Given the description of an element on the screen output the (x, y) to click on. 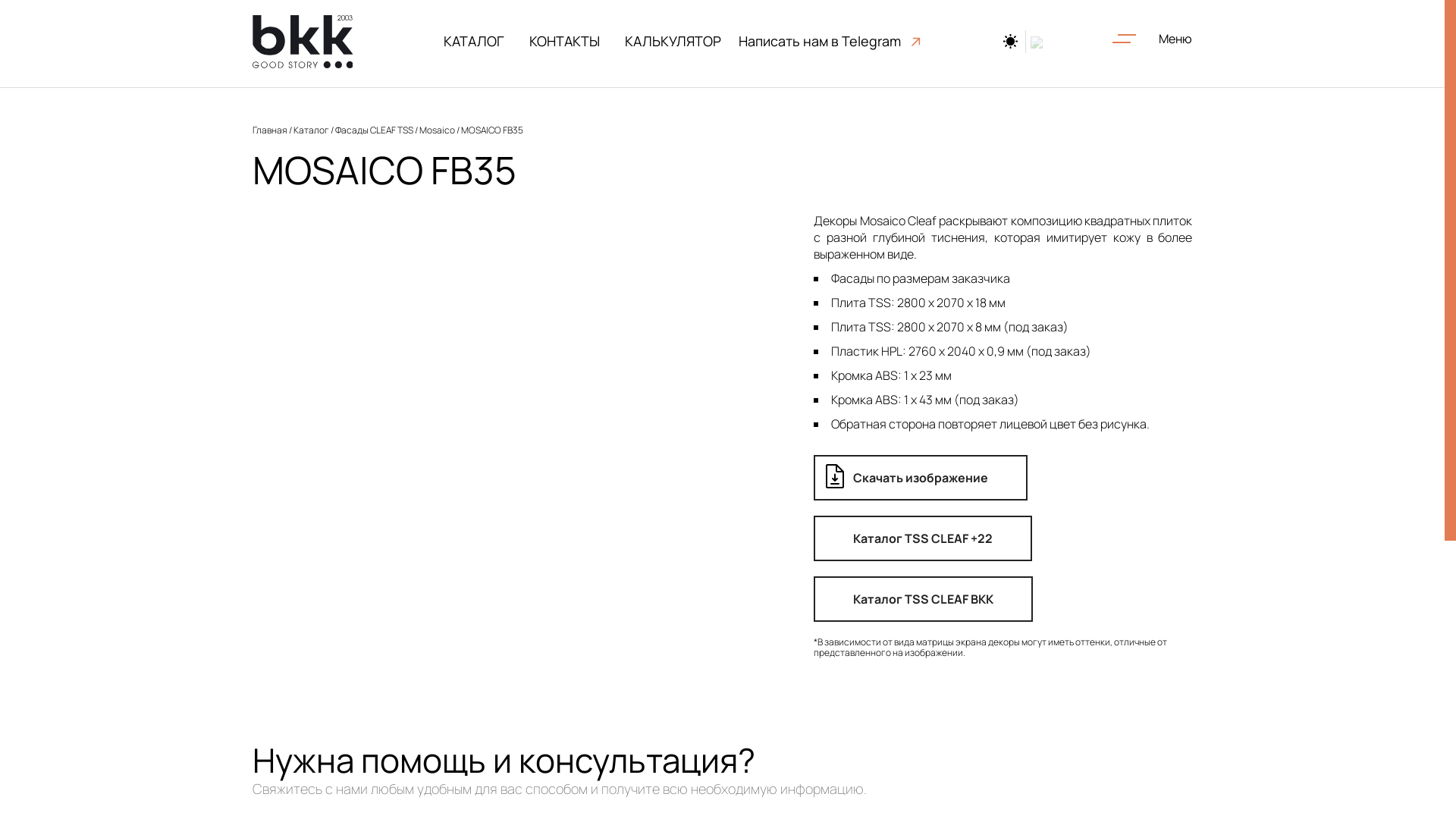
Mosaico Element type: text (436, 129)
